Given the description of an element on the screen output the (x, y) to click on. 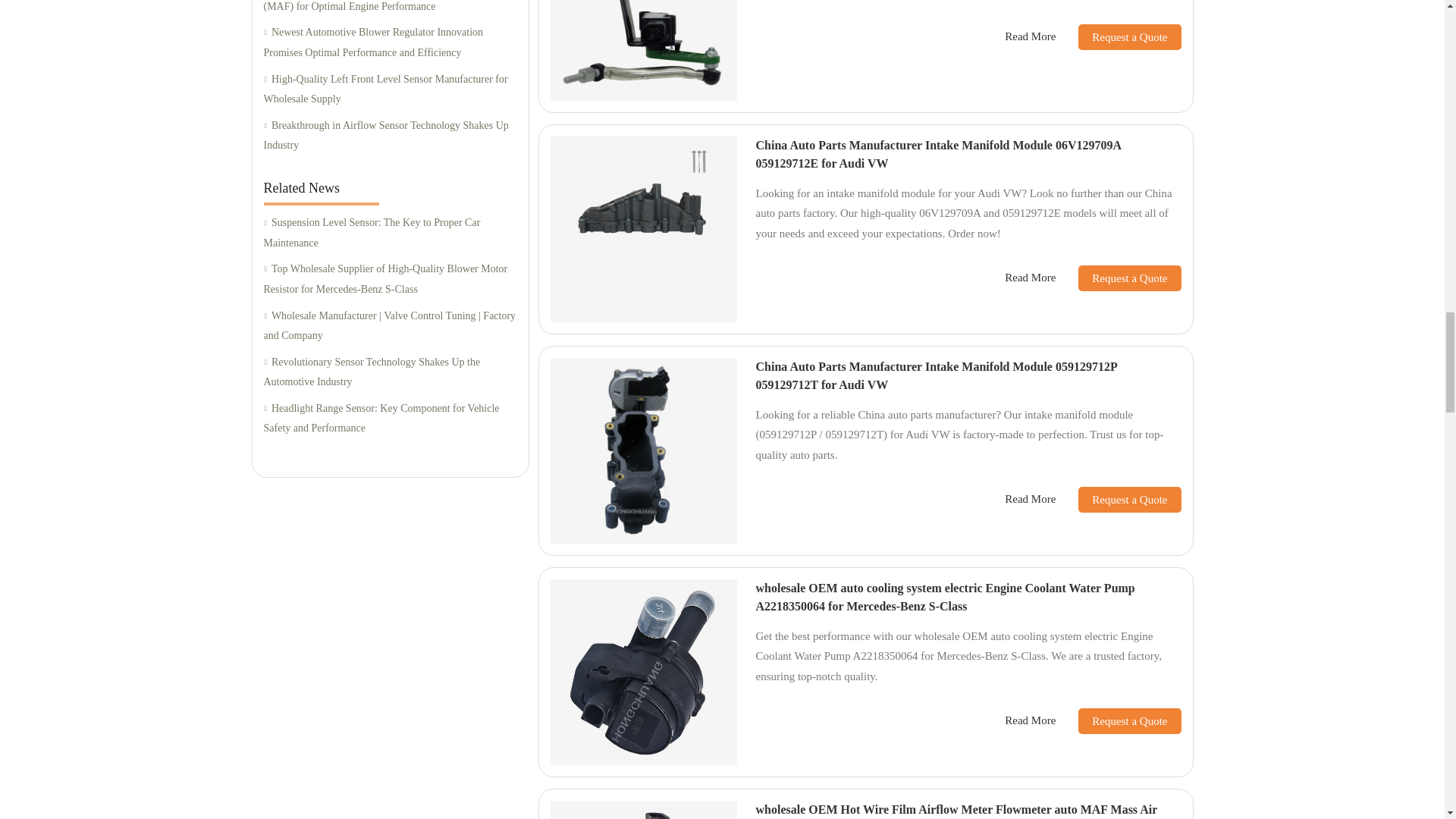
Breakthrough in Airflow Sensor Technology Shakes Up Industry (389, 136)
Suspension Level Sensor: The Key to Proper Car Maintenance (389, 232)
